Given the description of an element on the screen output the (x, y) to click on. 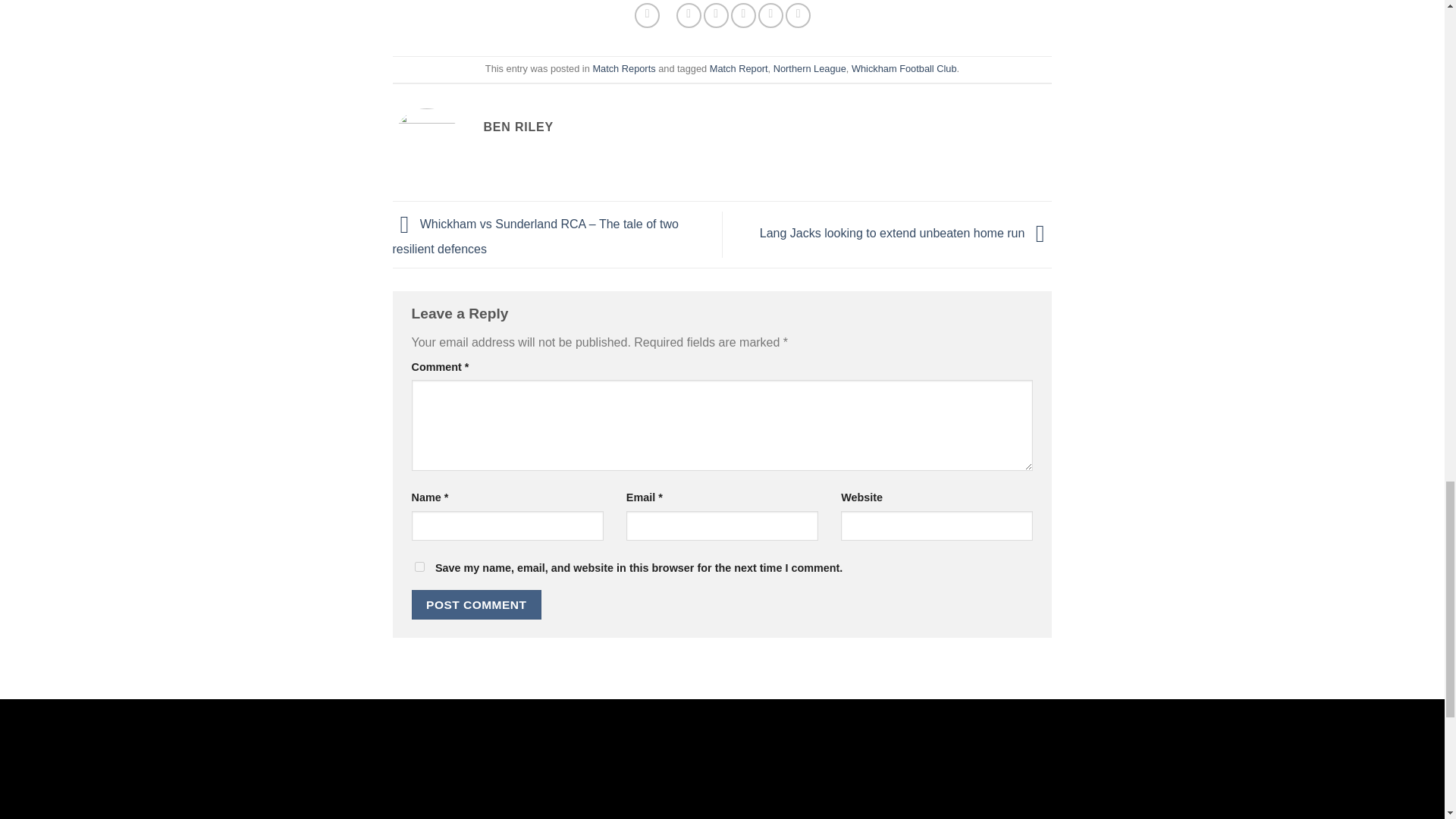
yes (418, 566)
Post Comment (475, 604)
